Given the description of an element on the screen output the (x, y) to click on. 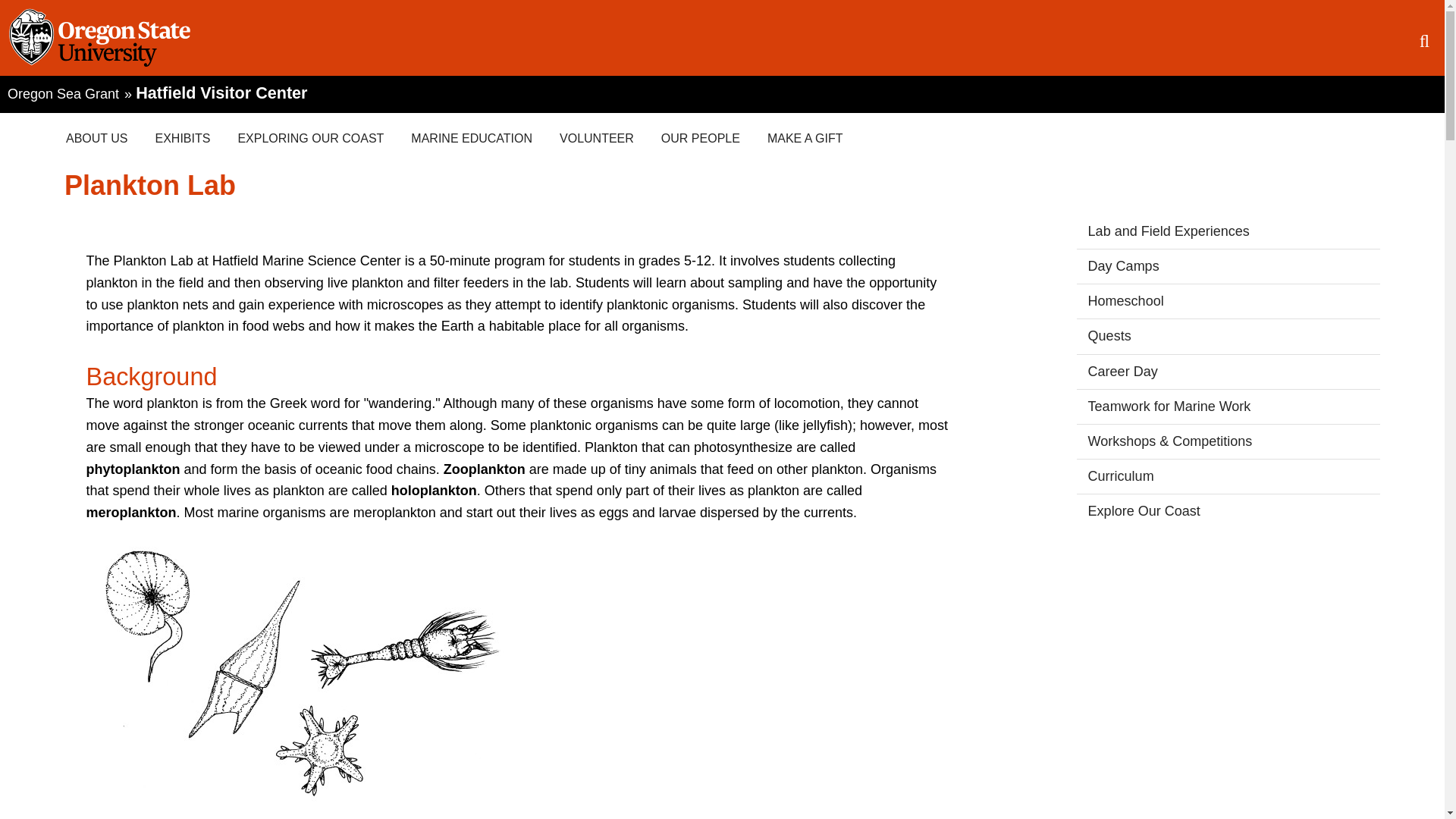
Different types of plankton. (301, 679)
Hatfield Visitor Center (221, 92)
Oregon Sea Grant (63, 93)
